Given the description of an element on the screen output the (x, y) to click on. 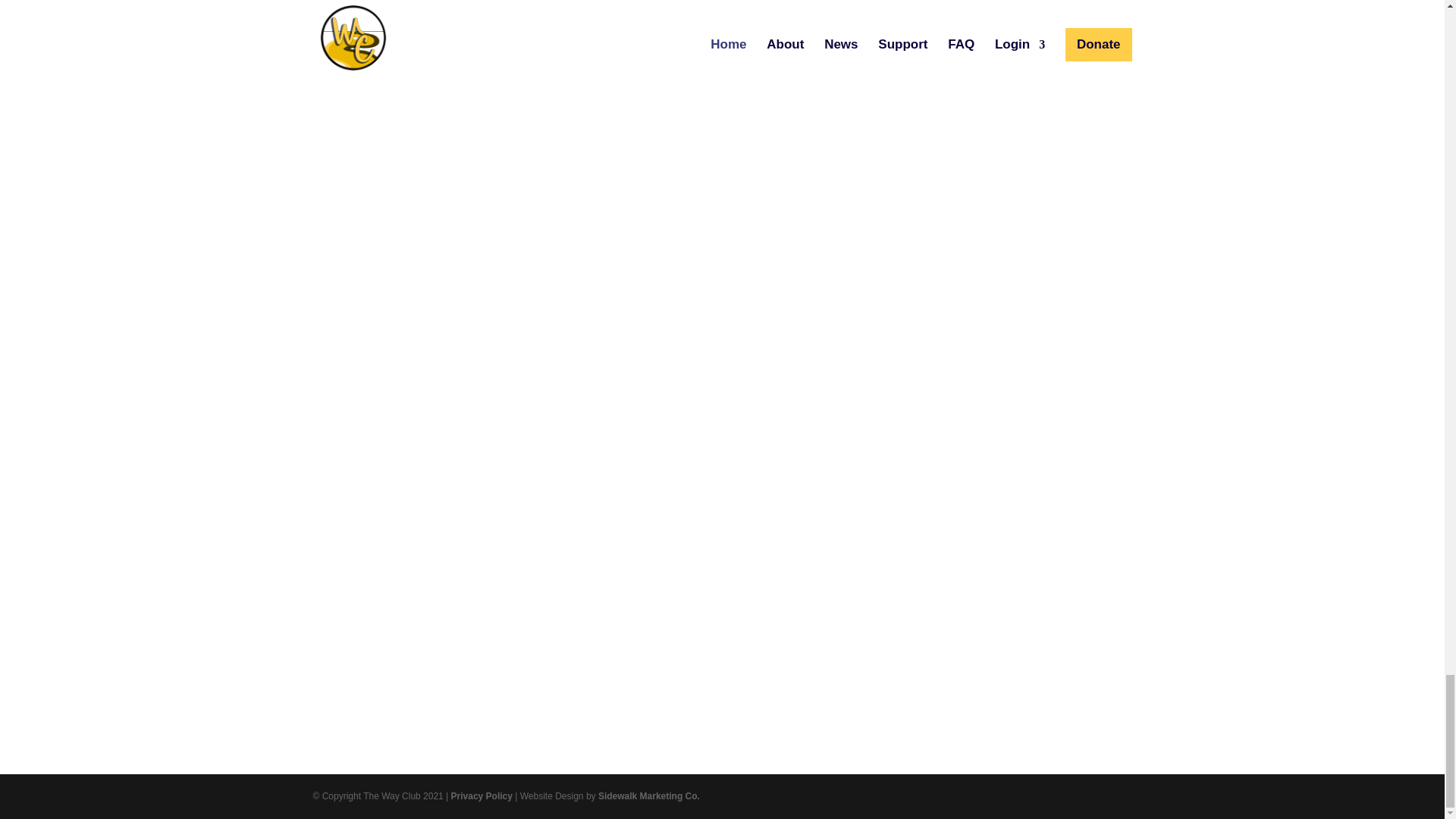
Sidewalk Marketing Co. (649, 796)
Privacy Policy (481, 796)
